Given the description of an element on the screen output the (x, y) to click on. 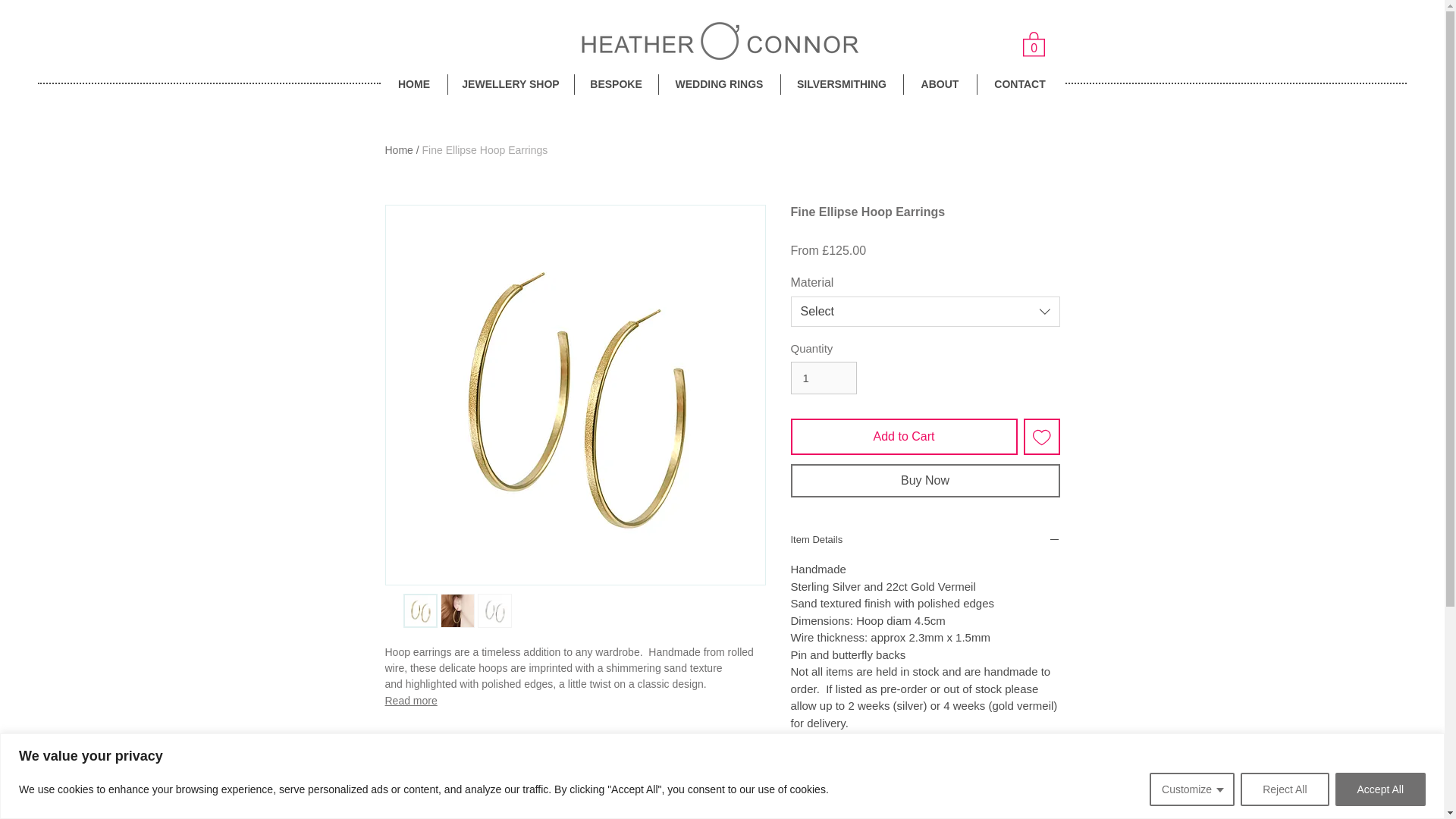
WEDDING RINGS (718, 84)
Accept All (1380, 788)
HOME (413, 84)
BESPOKE (616, 84)
JEWELLERY SHOP (509, 84)
Fine Ellipse Hoop Earrings (485, 150)
ABOUT (940, 84)
CONTACT (1019, 84)
Home (399, 150)
SILVERSMITHING (841, 84)
Customize (1192, 788)
Reject All (1283, 788)
1 (823, 377)
